Given the description of an element on the screen output the (x, y) to click on. 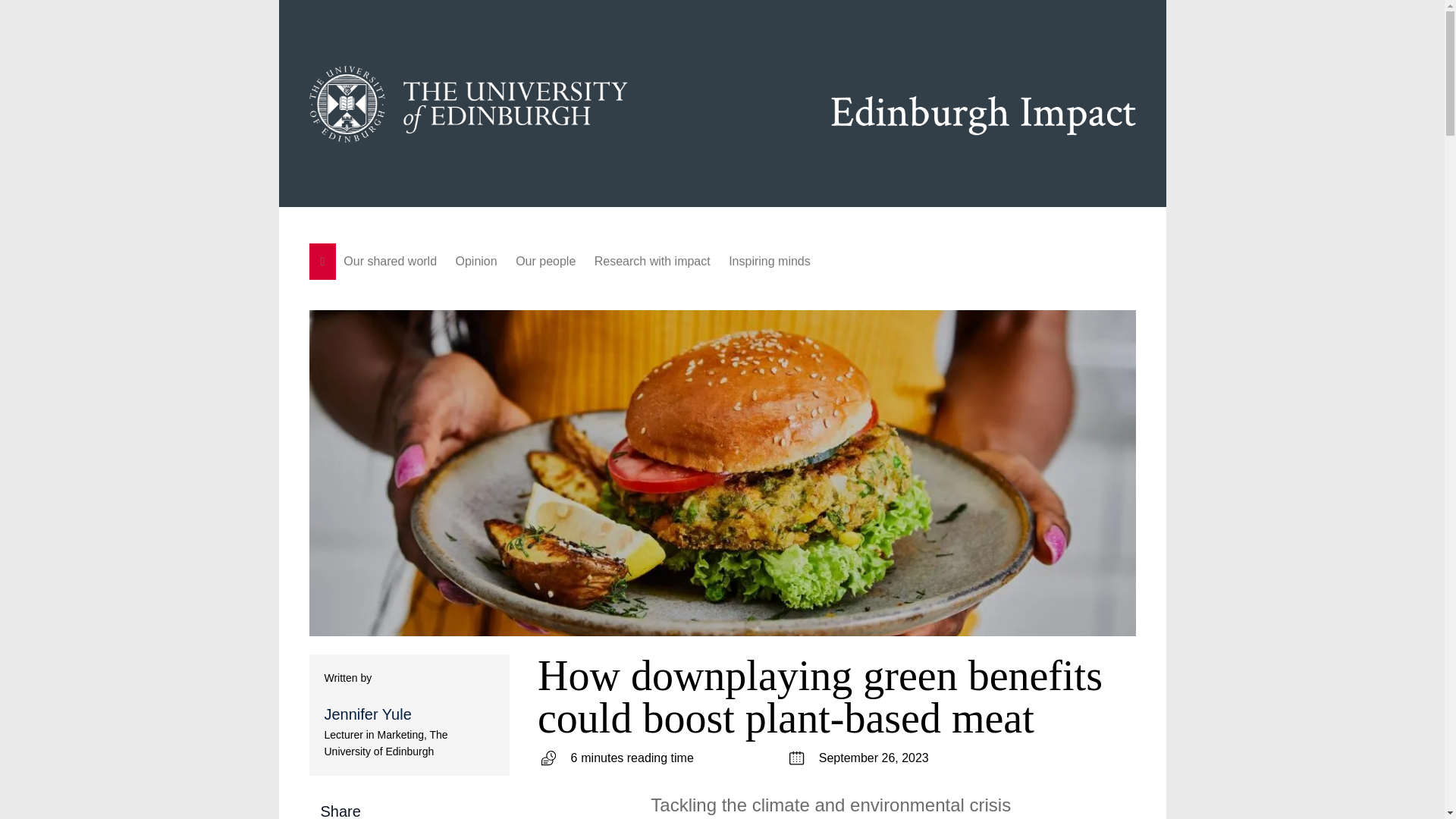
Our people (545, 261)
Tackling the climate and environmental crisis (830, 805)
Our shared world (390, 261)
Inspiring minds (769, 261)
Opinion (476, 261)
Research with impact (651, 261)
